Given the description of an element on the screen output the (x, y) to click on. 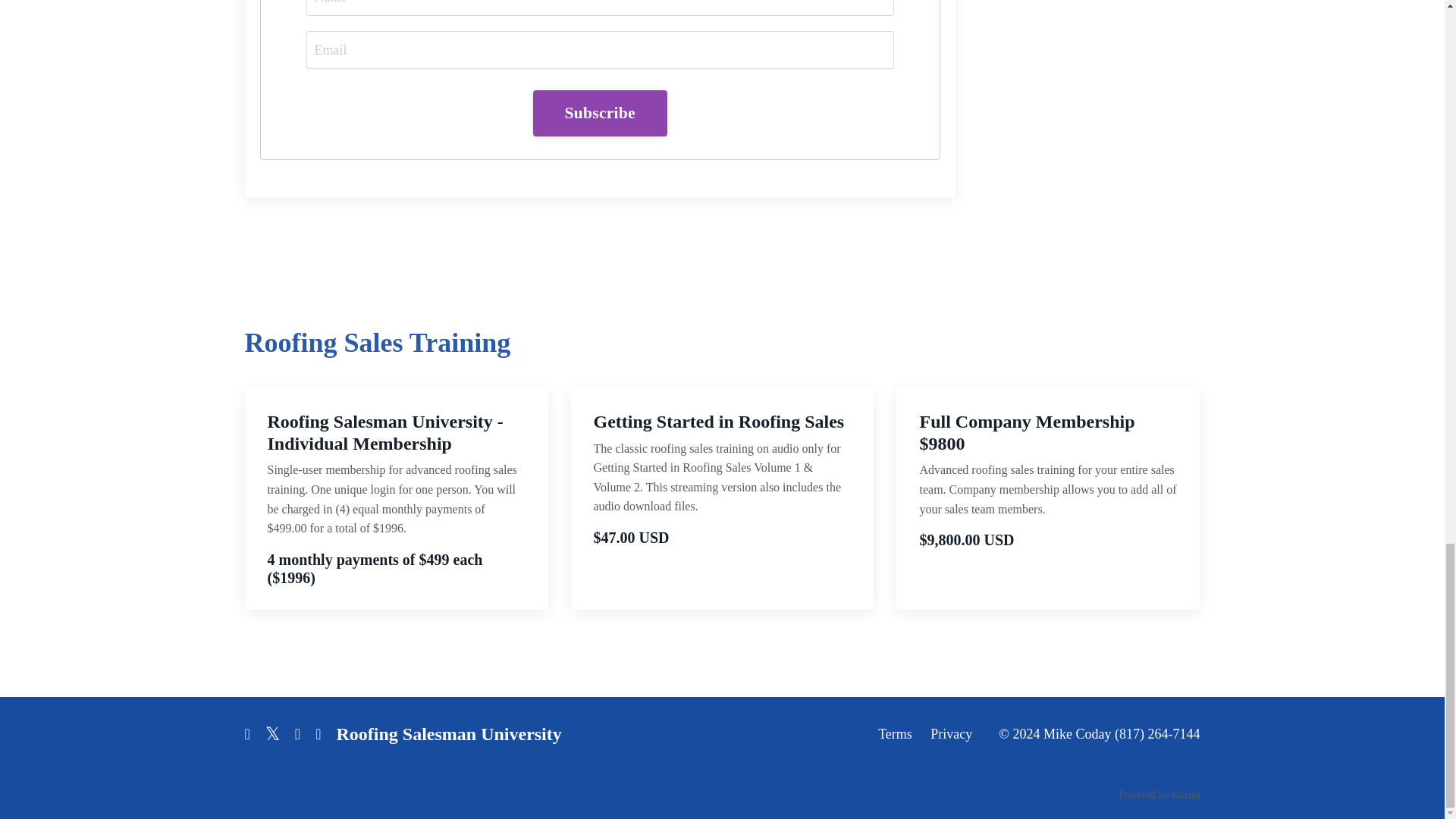
Terms (894, 734)
Powered by Kajabi (1158, 794)
Subscribe (599, 112)
Roofing Salesman University (448, 733)
Privacy (951, 734)
Subscribe (599, 112)
